Given the description of an element on the screen output the (x, y) to click on. 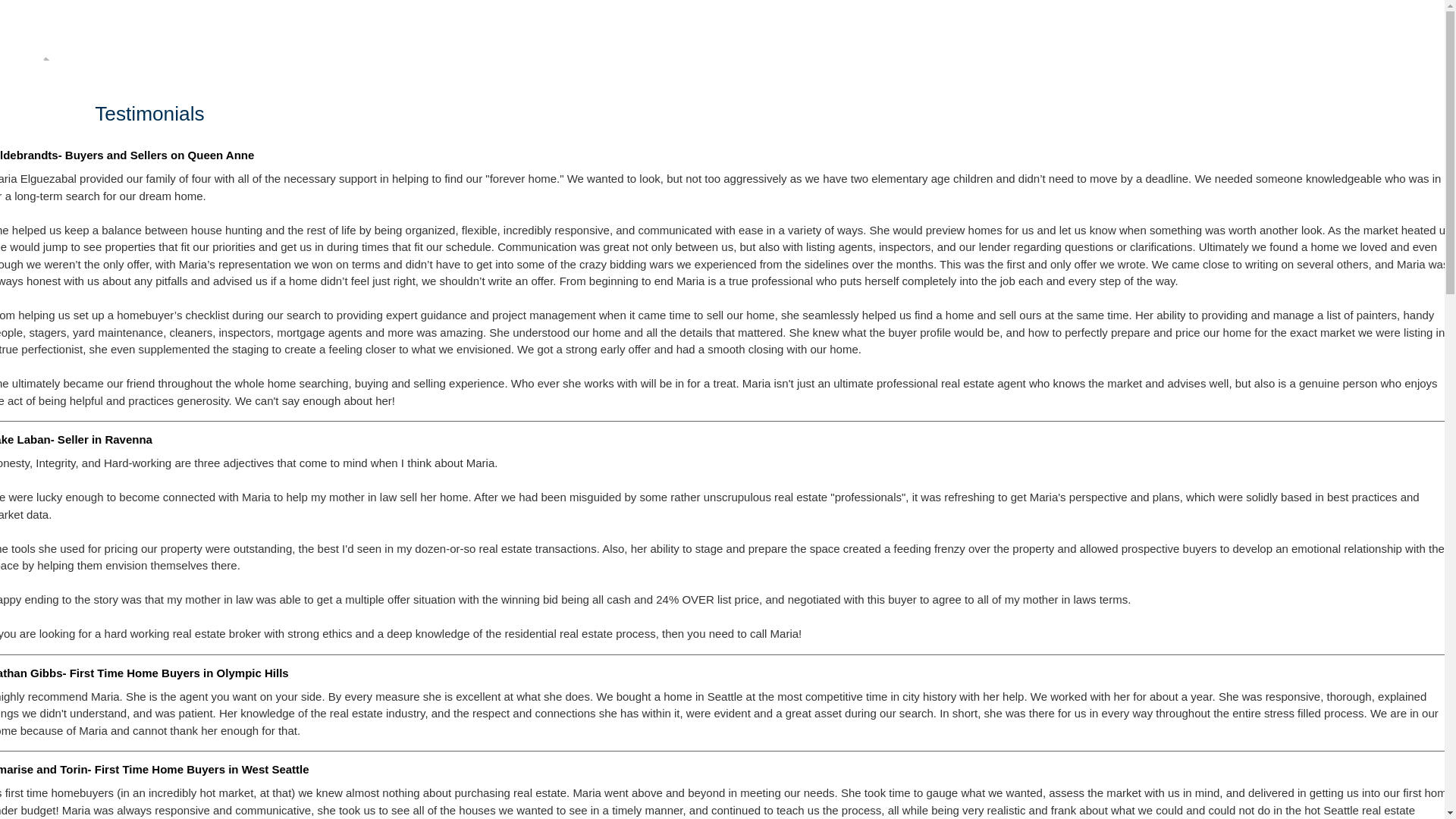
Working with Buyers (488, 114)
My Office's Listings (305, 158)
My Services To Buyers (495, 145)
Properties (276, 75)
Resources (930, 174)
My Company's Sold Listings (329, 171)
Home (118, 174)
Featured Properties (305, 145)
Buyer's Terms (472, 158)
My Active Listings (301, 120)
Financial Calculators (490, 171)
My Sold Listings (296, 132)
Property Search (295, 107)
Meet Maria (183, 126)
Working with Sellers (637, 140)
